Given the description of an element on the screen output the (x, y) to click on. 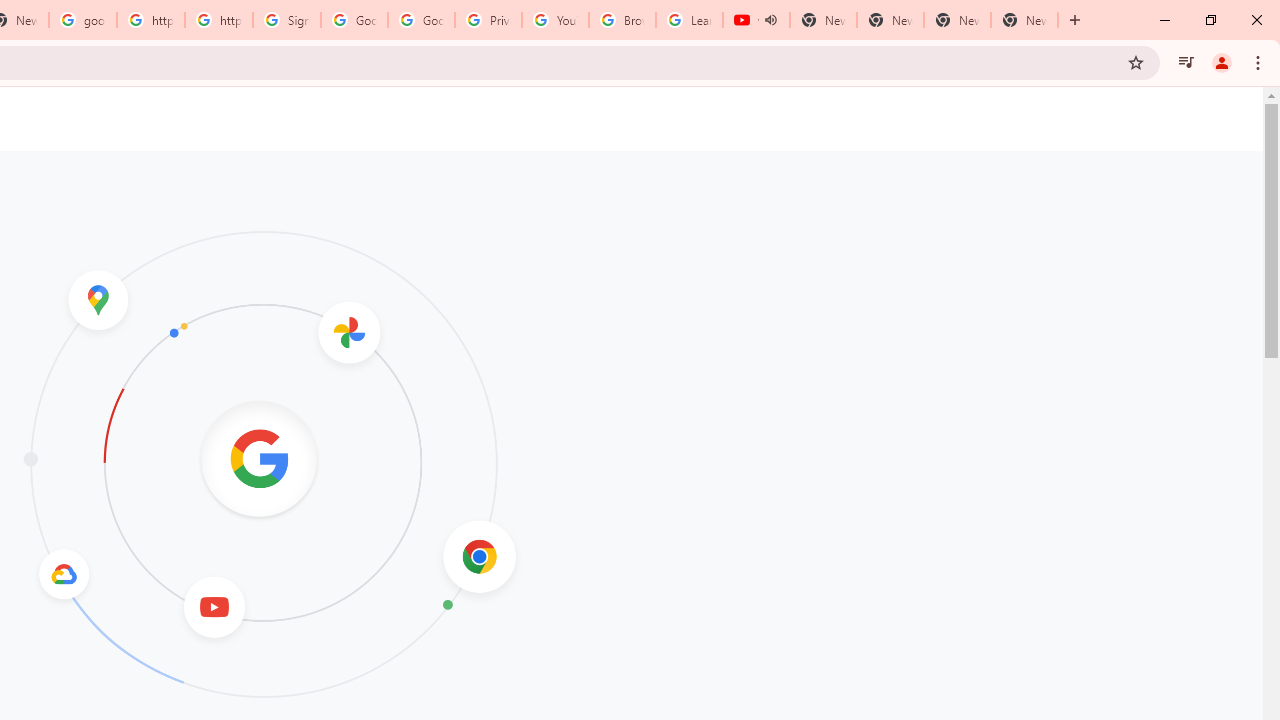
YouTube (555, 20)
https://scholar.google.com/ (150, 20)
https://scholar.google.com/ (219, 20)
Mute tab (770, 20)
